Given the description of an element on the screen output the (x, y) to click on. 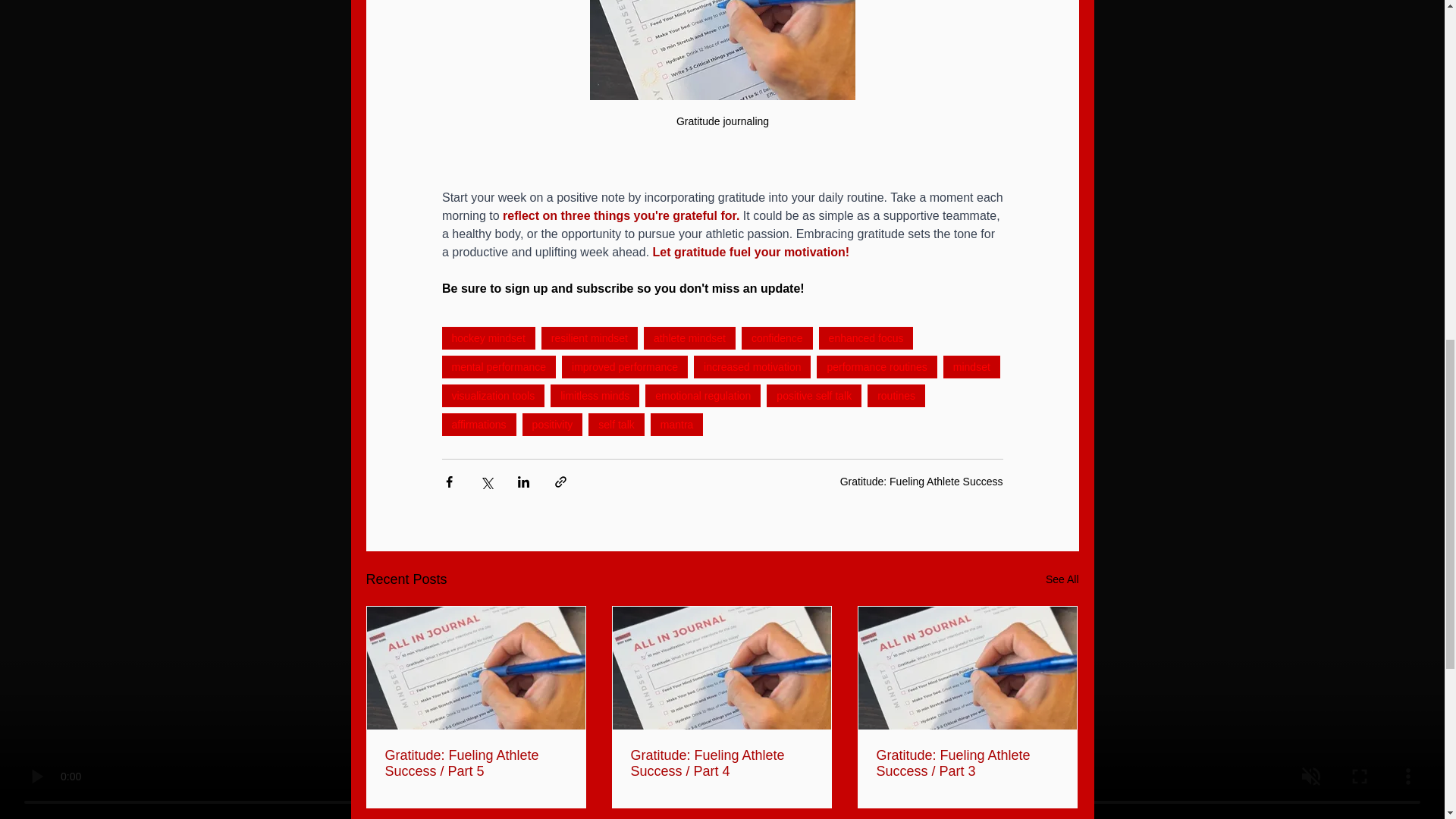
mental performance (498, 366)
affirmations (478, 424)
confidence (776, 337)
improved performance (624, 366)
mindset (971, 366)
mantra (676, 424)
emotional regulation (702, 395)
positivity (552, 424)
resilient mindset (589, 337)
self talk (615, 424)
